Given the description of an element on the screen output the (x, y) to click on. 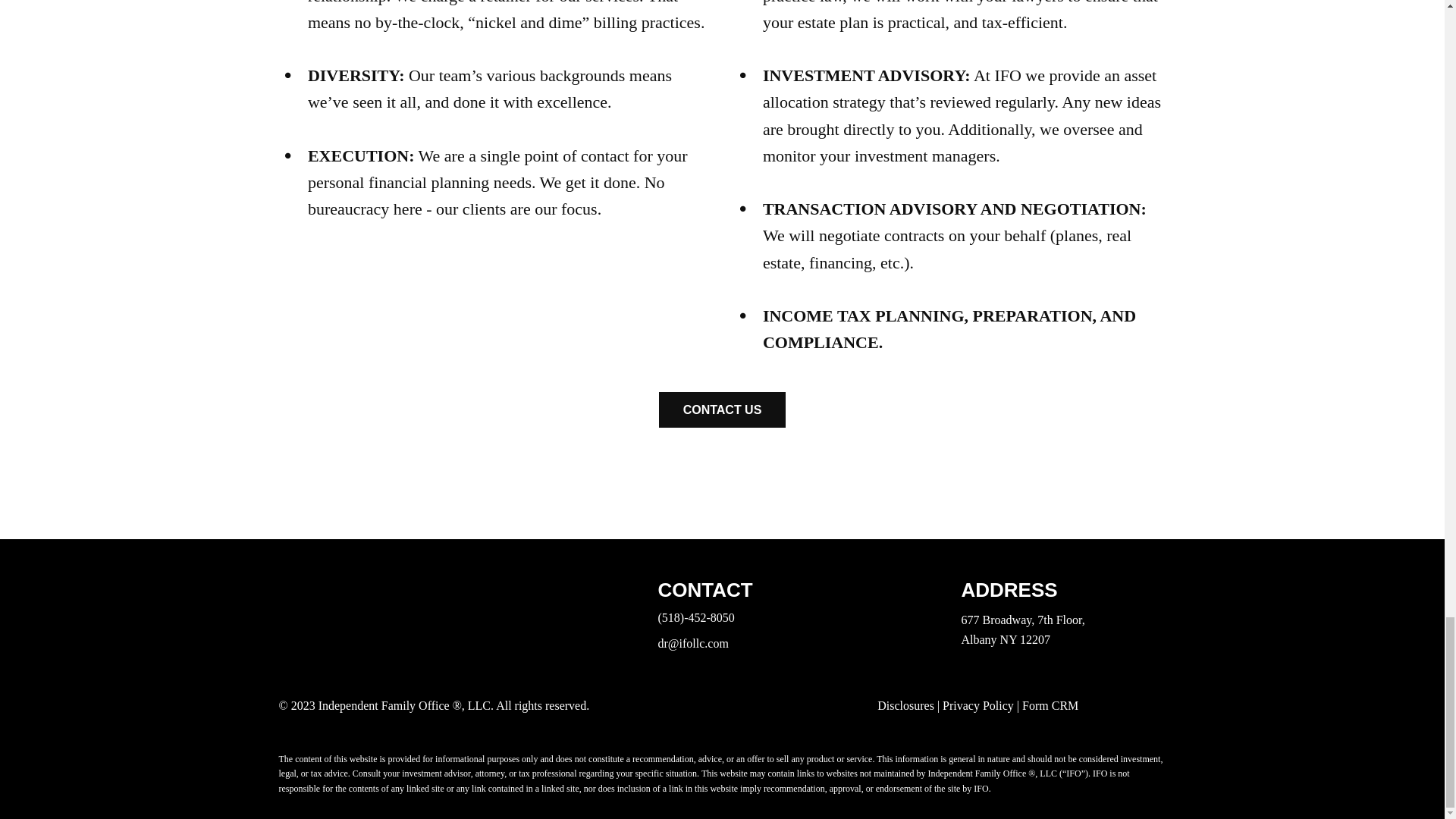
Disclosures (905, 705)
Form CRM (1050, 705)
CONTACT US (722, 409)
Privacy Policy (977, 705)
